Given the description of an element on the screen output the (x, y) to click on. 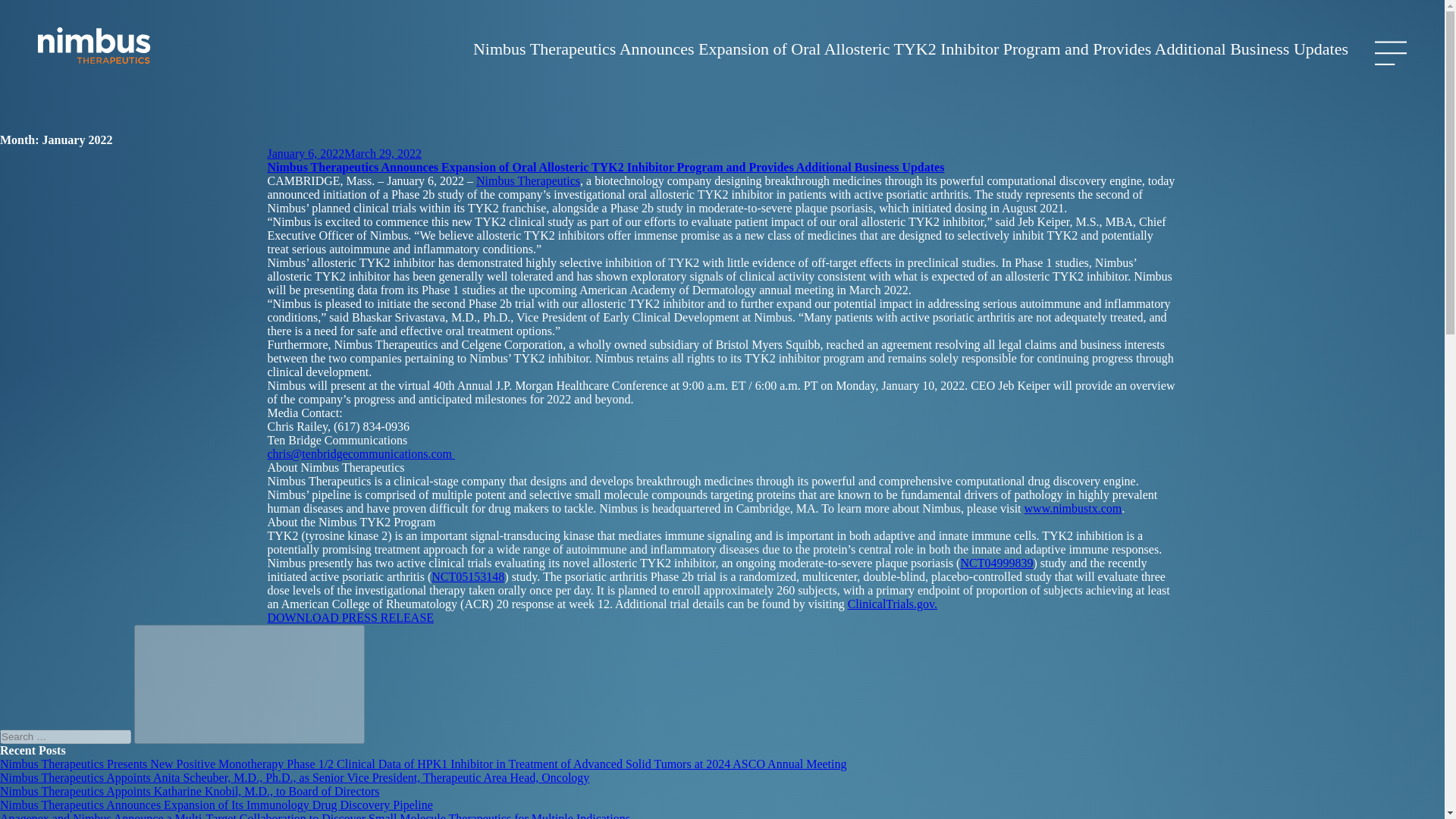
DOWNLOAD PRESS RELEASE (349, 617)
www.nimbustx.com (1073, 508)
ClinicalTrials.gov. (892, 603)
NCT05153148 (466, 576)
NCT04999839 (995, 562)
January 6, 2022March 29, 2022 (344, 153)
